Given the description of an element on the screen output the (x, y) to click on. 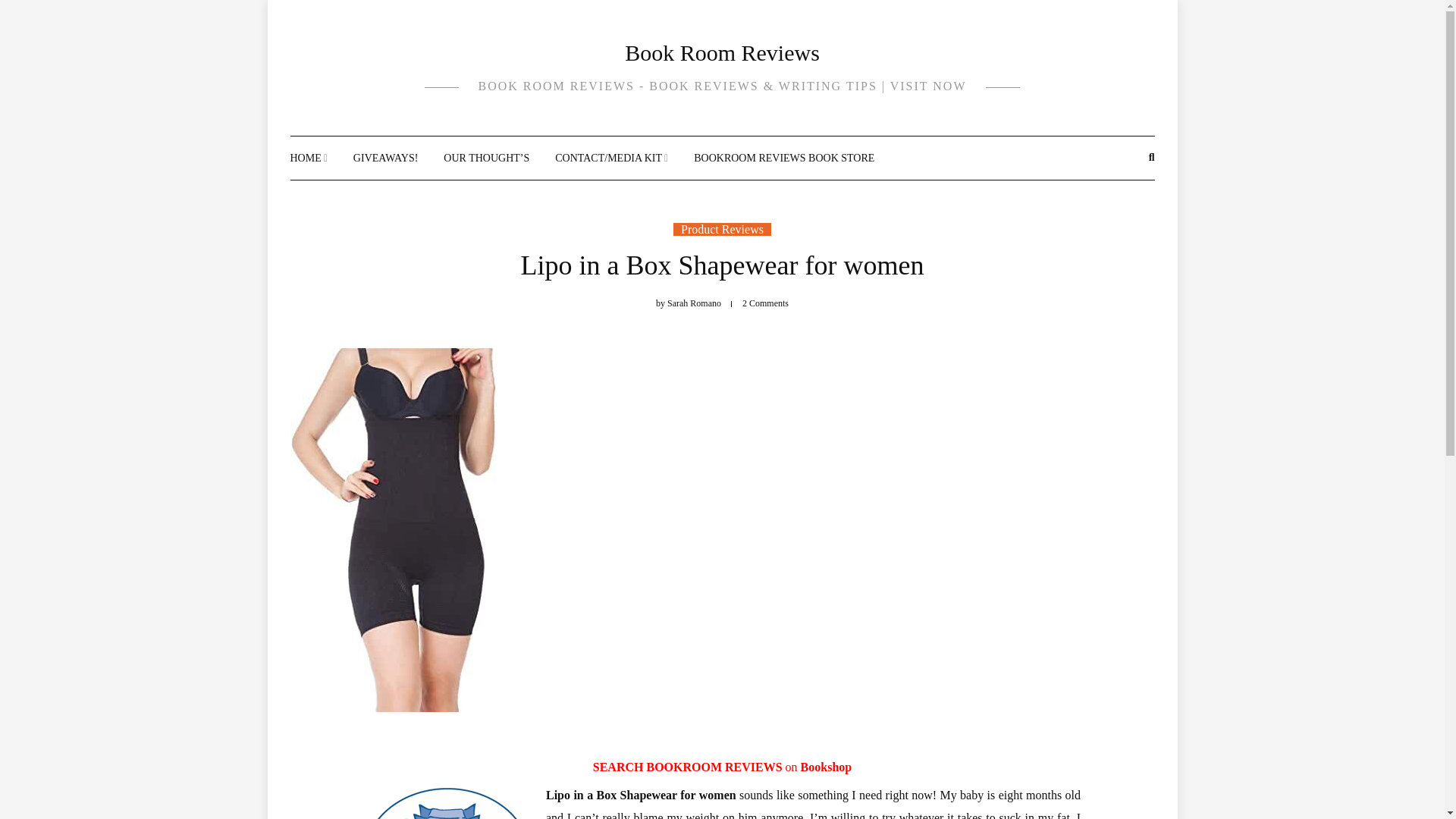
SEARCH (619, 766)
BOOKROOM REVIEWS on Bookshop (748, 766)
Book Room Reviews (721, 52)
BOOKROOM REVIEWS BOOK STORE (784, 158)
It Is What It Is -Our Thoughts (486, 158)
GIVEAWAYS! (385, 158)
Product Reviews (721, 228)
